Given the description of an element on the screen output the (x, y) to click on. 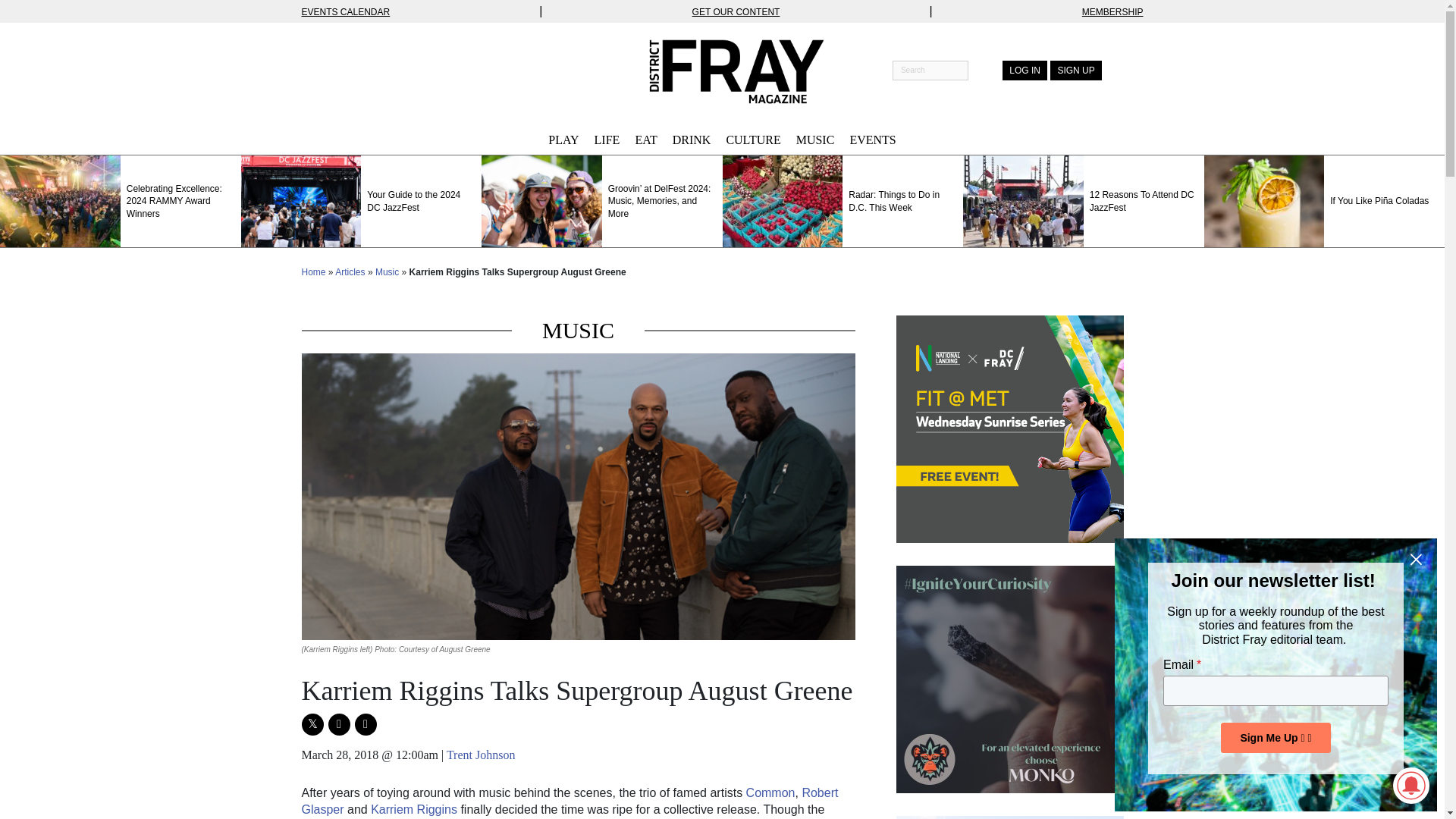
PLAY (563, 139)
EAT (645, 139)
MEMBERSHIP (1111, 11)
Login (1024, 70)
LIFE (607, 139)
GET OUR CONTENT (736, 11)
LOG IN (1024, 70)
SIGN UP (1074, 70)
Twitter share (312, 724)
Posts by Trent Johnson (480, 754)
Facebook share (338, 724)
EVENTS CALENDAR (345, 11)
linkedin Share (366, 724)
Register (1074, 70)
